Given the description of an element on the screen output the (x, y) to click on. 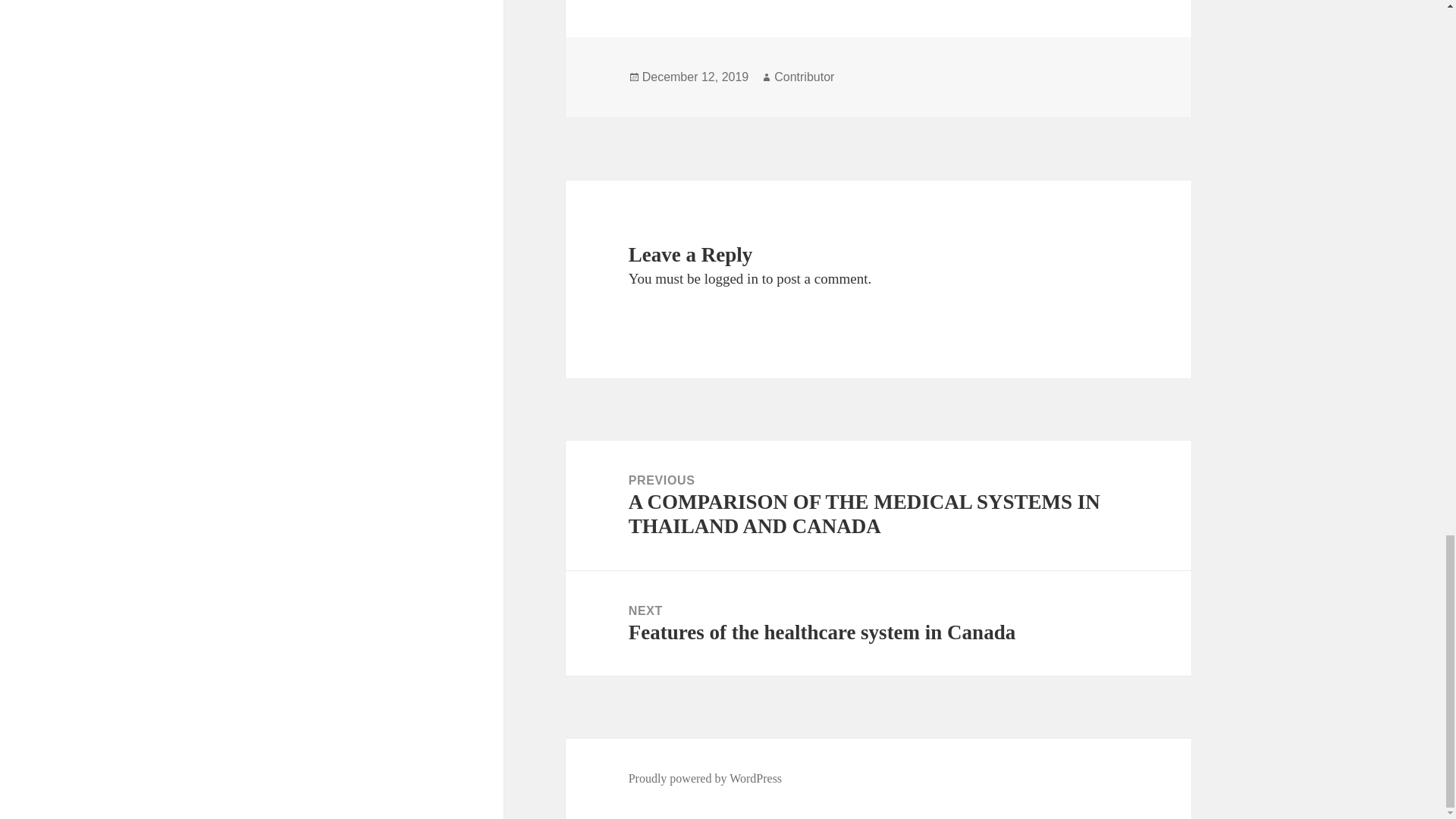
Contributor (804, 77)
logged in (731, 278)
Proudly powered by WordPress (704, 778)
December 12, 2019 (878, 623)
